Given the description of an element on the screen output the (x, y) to click on. 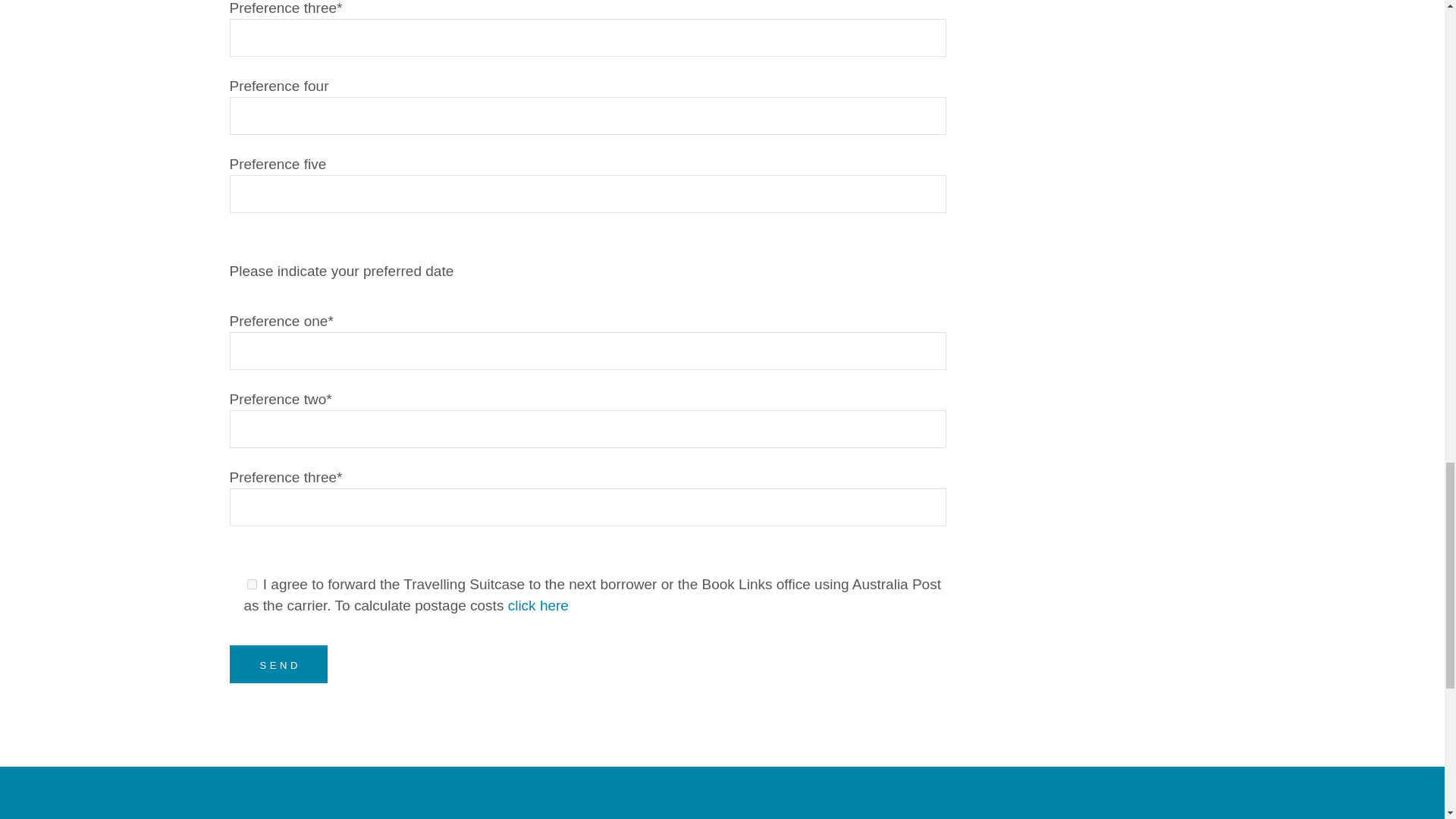
1 (252, 583)
